Given the description of an element on the screen output the (x, y) to click on. 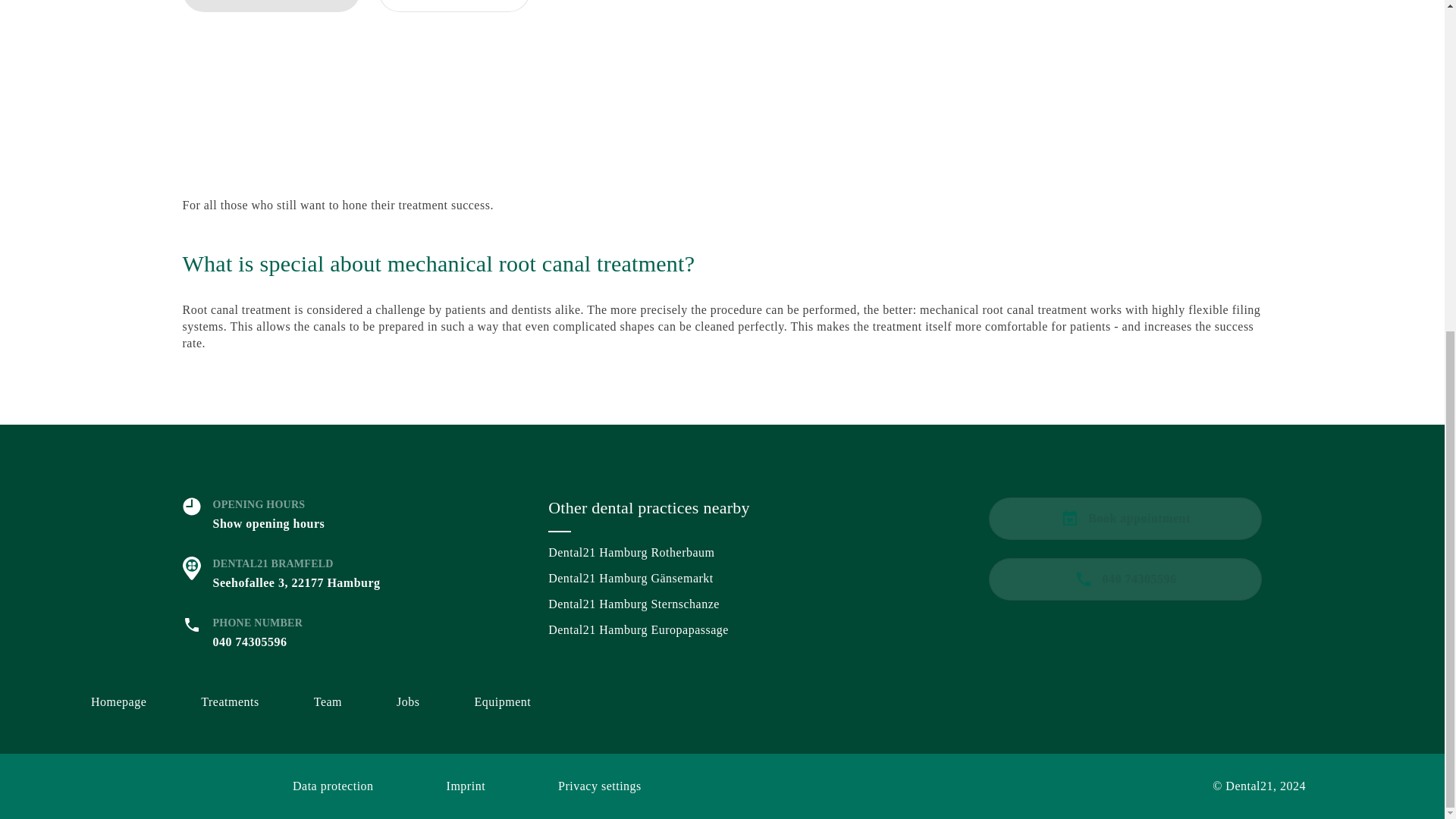
Imprint (466, 786)
Equipment (502, 701)
040 74305596 (1125, 578)
040 74305596 (453, 6)
Book appointment (1125, 518)
Jobs (407, 701)
Homepage (118, 701)
Data protection (333, 786)
Book appointment (270, 6)
Treatments (229, 701)
